Given the description of an element on the screen output the (x, y) to click on. 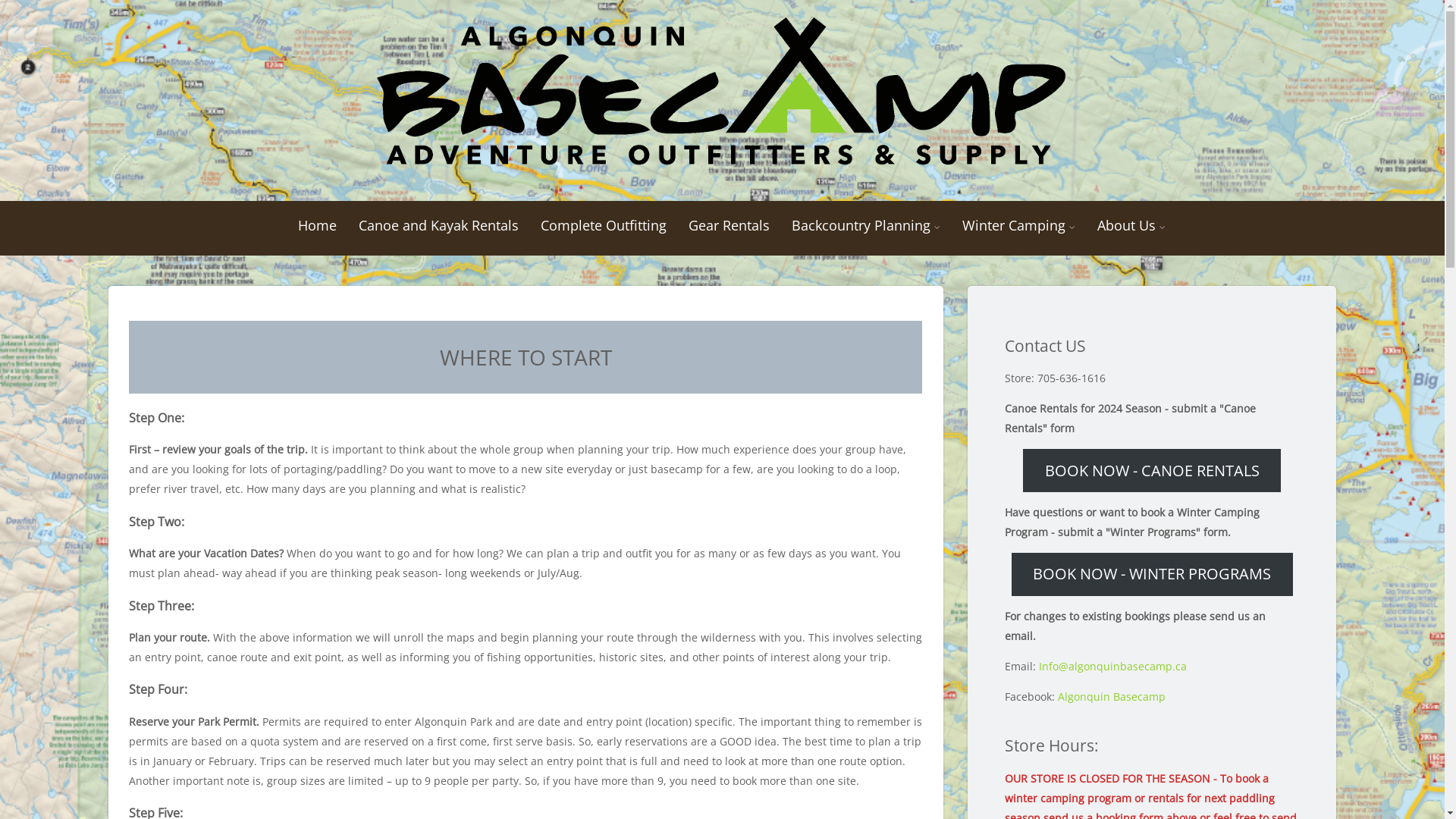
Algonquin Basecamp Element type: text (1111, 696)
Gear Rentals Element type: text (728, 225)
Canoe and Kayak Rentals Element type: text (438, 225)
Algonquin Basecamp Element type: hover (722, 92)
Winter Camping Element type: text (1018, 225)
BOOK NOW - CANOE RENTALS Element type: text (1151, 470)
BOOK NOW - WINTER PROGRAMS Element type: text (1151, 574)
Info@algonquinbasecamp.ca Element type: text (1112, 665)
About Us Element type: text (1131, 225)
Complete Outfitting Element type: text (603, 225)
Home Element type: text (317, 225)
Backcountry Planning Element type: text (865, 225)
